Given the description of an element on the screen output the (x, y) to click on. 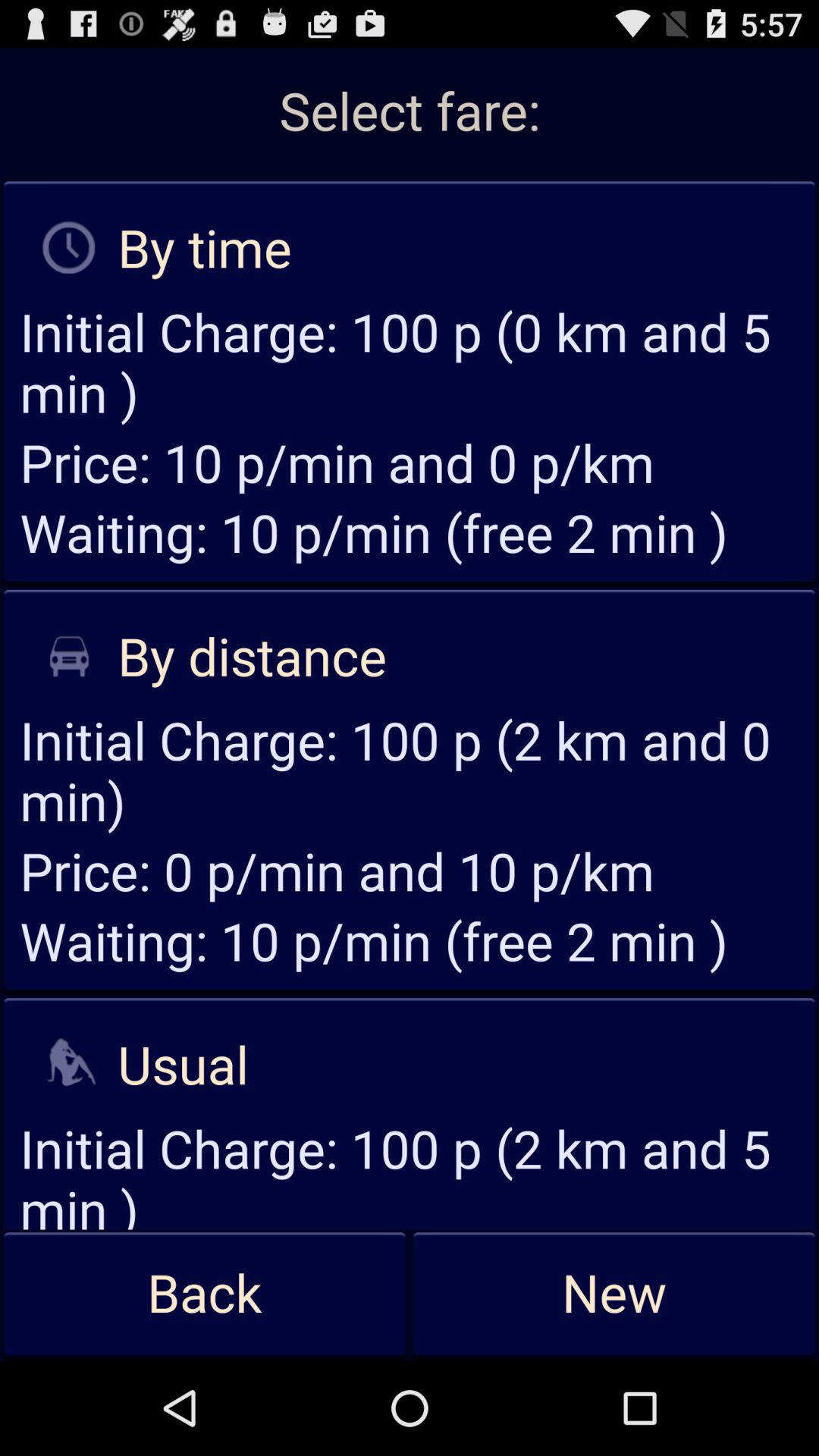
press item below initial charge 100 icon (614, 1294)
